Given the description of an element on the screen output the (x, y) to click on. 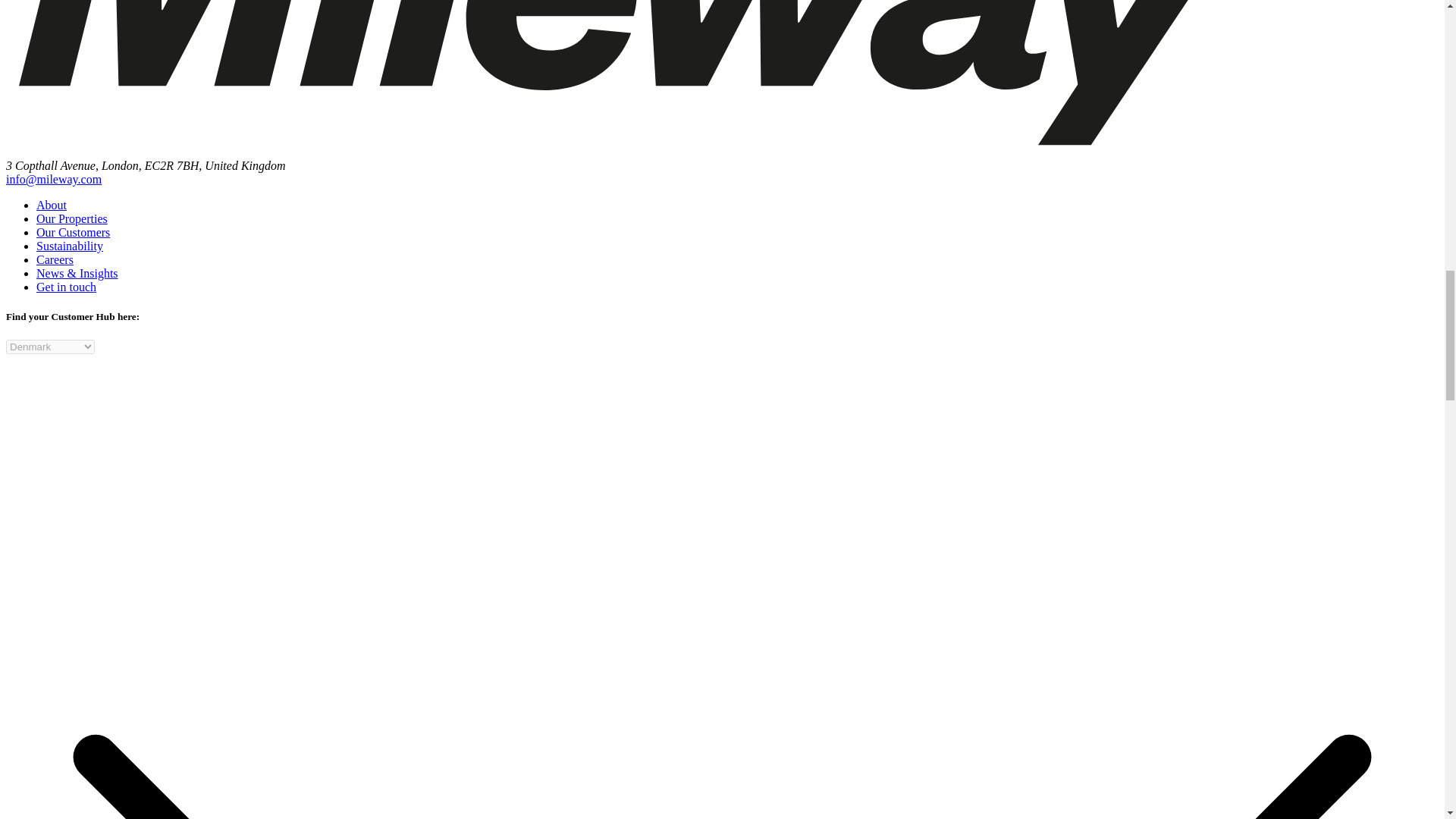
Our Customers (73, 232)
About (51, 205)
Sustainability (69, 245)
Careers (55, 259)
Our Properties (71, 218)
Get in touch (66, 286)
